Given the description of an element on the screen output the (x, y) to click on. 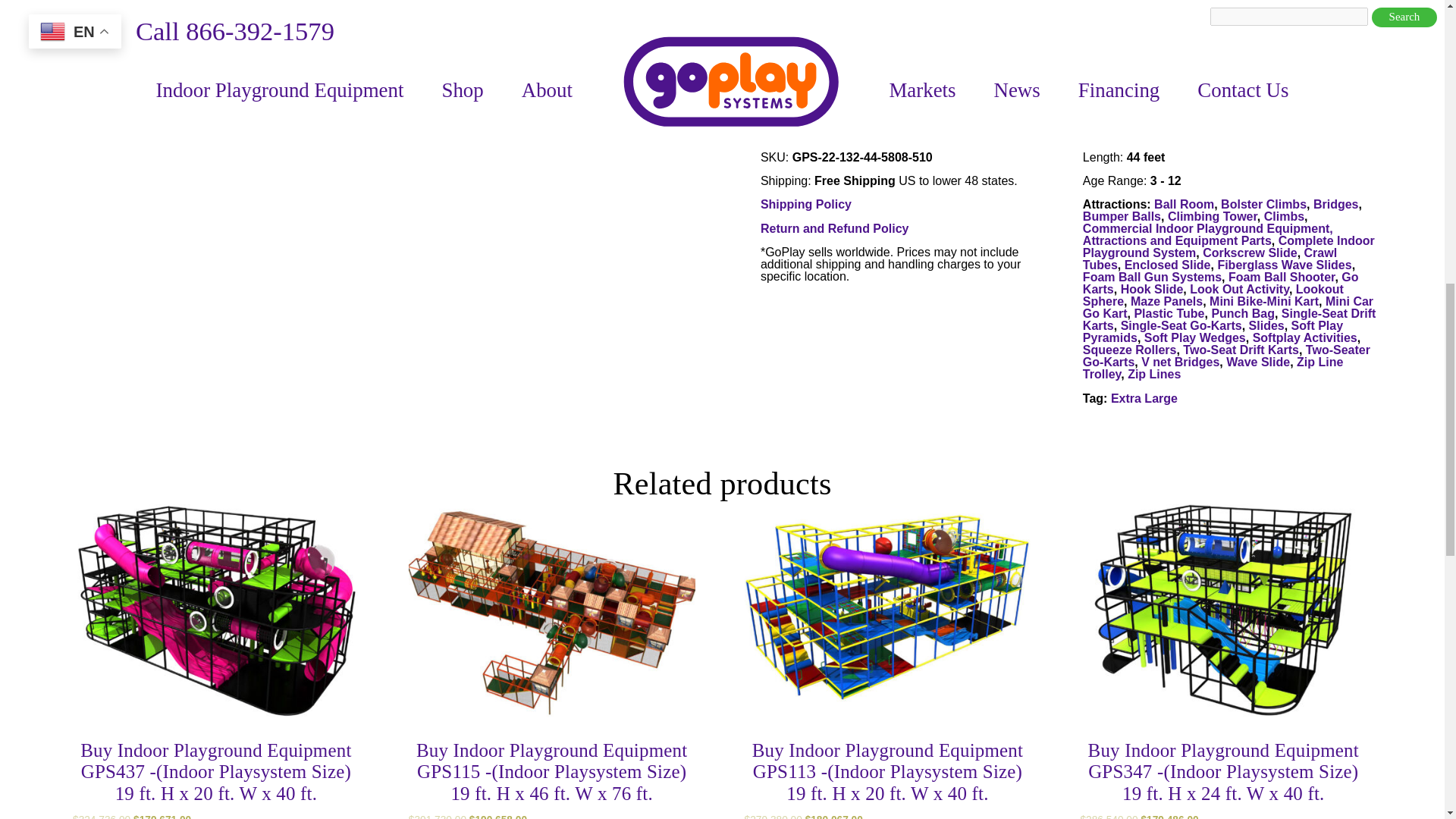
GPS-22-132-44-5808-510-1.jpg (130, 51)
